Given the description of an element on the screen output the (x, y) to click on. 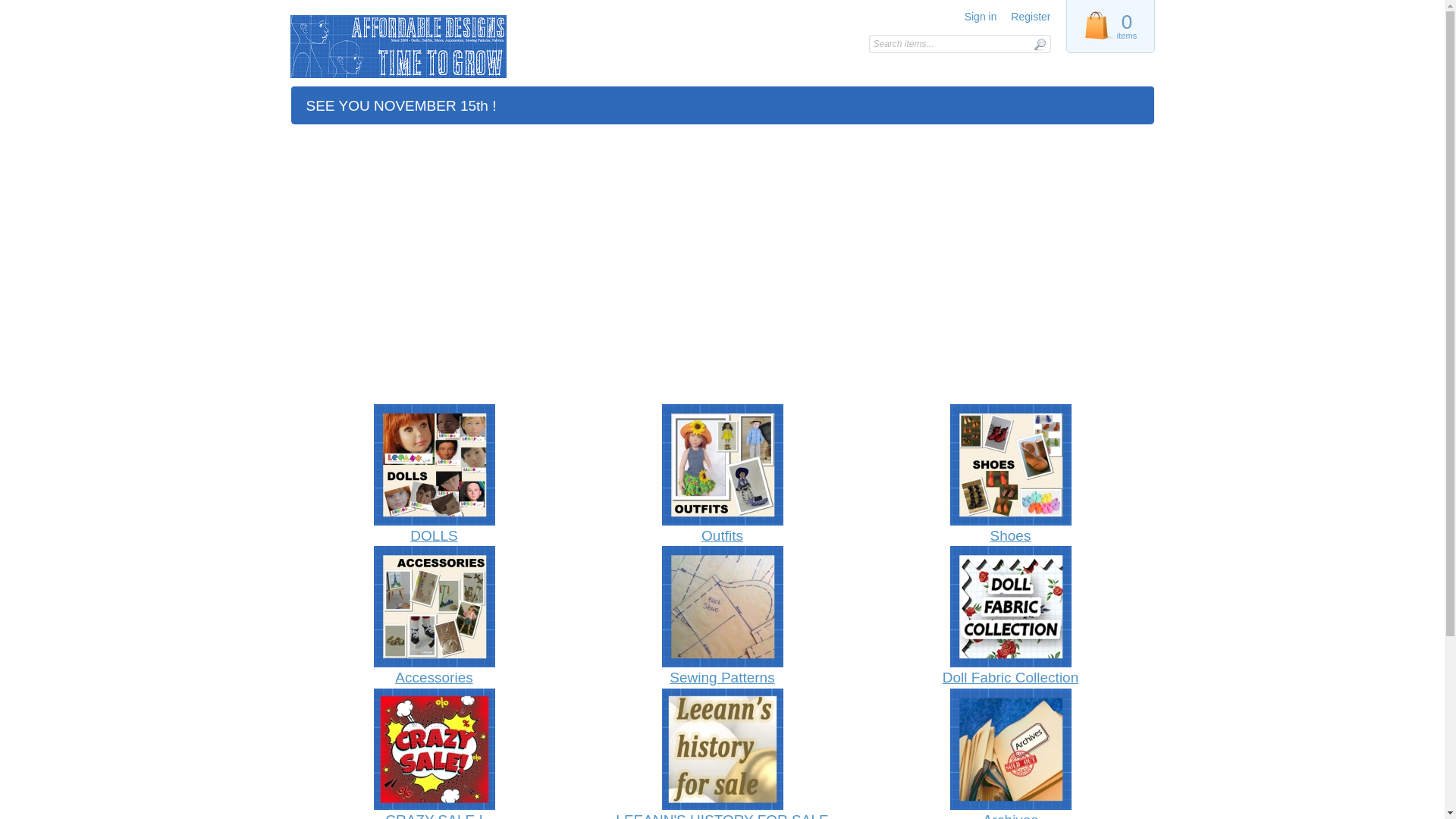
Shoes Element type: text (1010, 475)
Register Element type: text (1030, 16)
Sign in Element type: text (980, 16)
Accessories Element type: text (433, 616)
DOLLS Element type: text (433, 475)
Doll Fabric Collection Element type: text (1010, 616)
Outfits Element type: text (721, 475)
Home Element type: hover (397, 46)
Sewing Patterns Element type: text (721, 616)
